Given the description of an element on the screen output the (x, y) to click on. 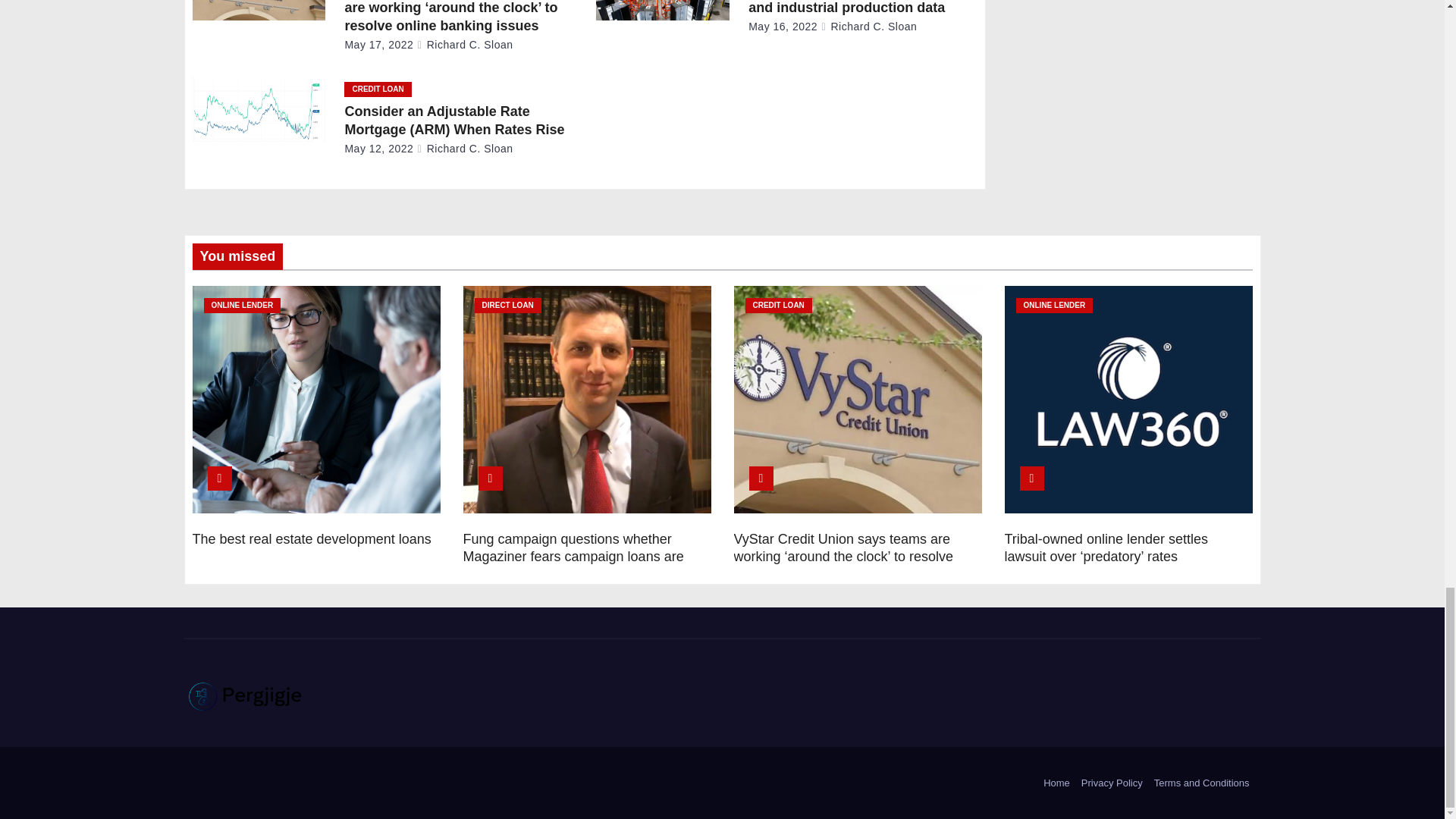
Permalink to: The best real estate development loans (311, 539)
